Given the description of an element on the screen output the (x, y) to click on. 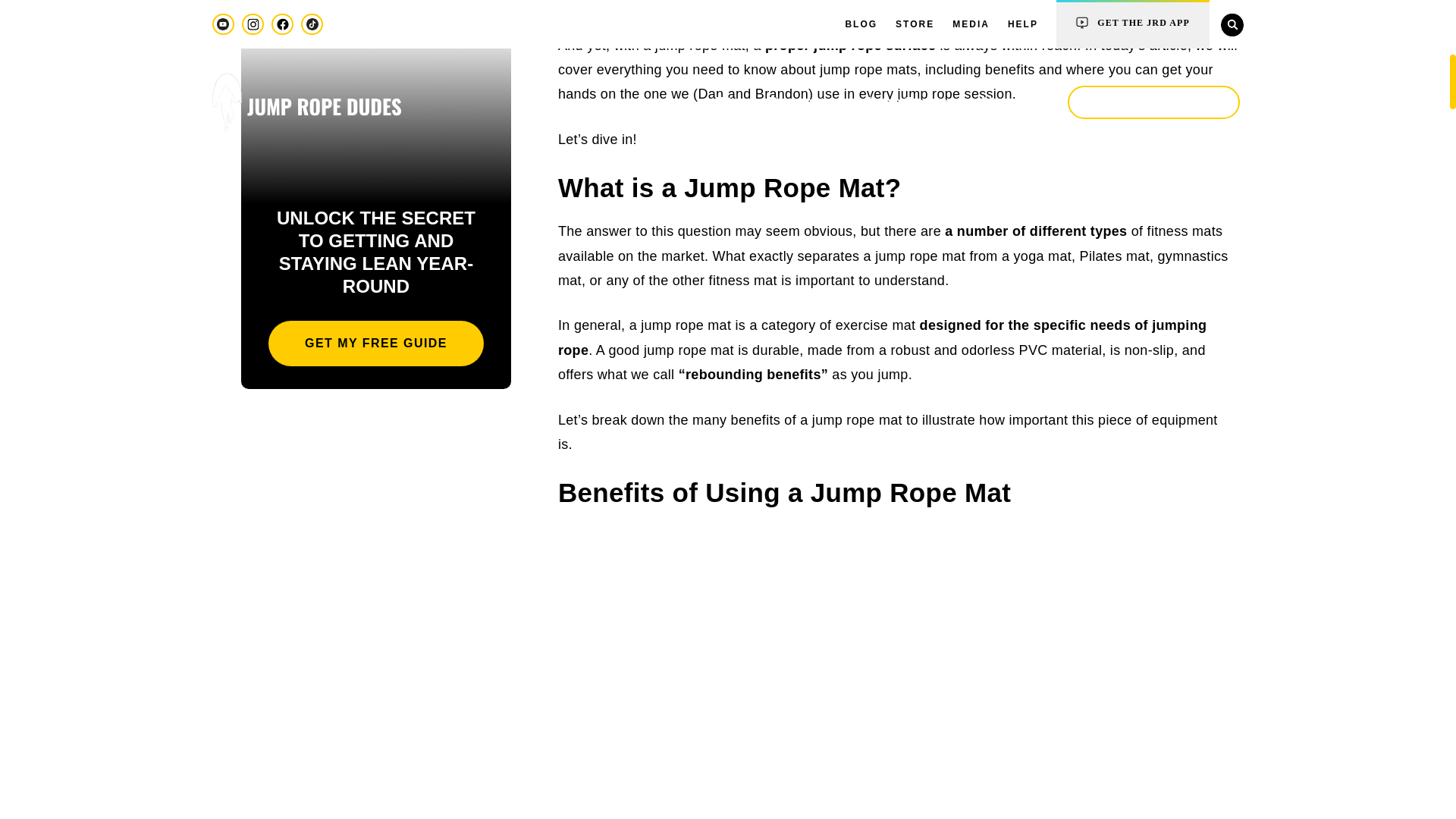
GET MY FREE GUIDE (375, 343)
